Given the description of an element on the screen output the (x, y) to click on. 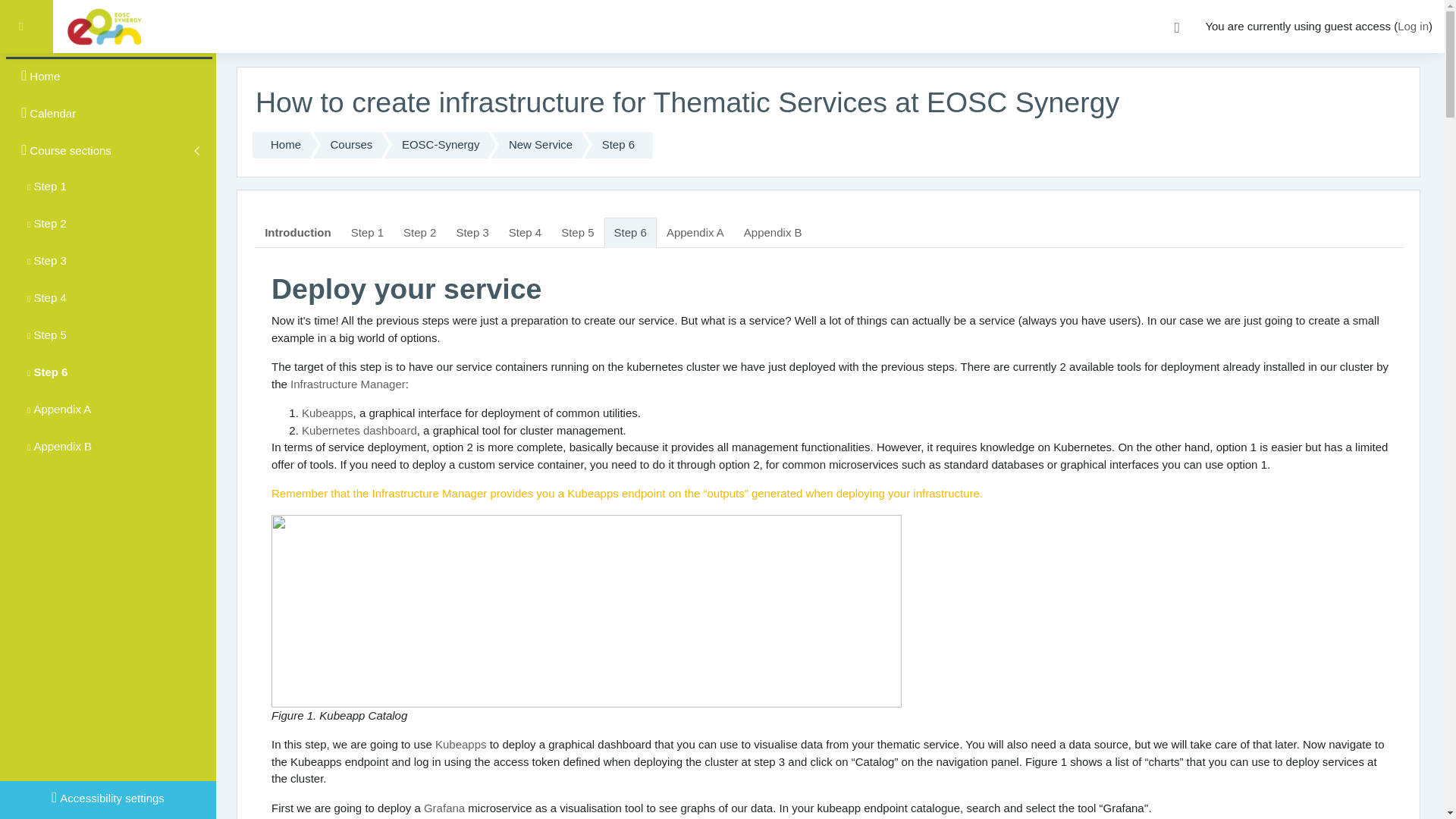
Step 3 (471, 232)
Step 2 (419, 232)
Step 6 (279, 270)
New Service (536, 144)
Introduction (297, 232)
Step 4 (525, 232)
Appendix B (772, 232)
Home (280, 144)
EOSC-Synergy (435, 144)
